Given the description of an element on the screen output the (x, y) to click on. 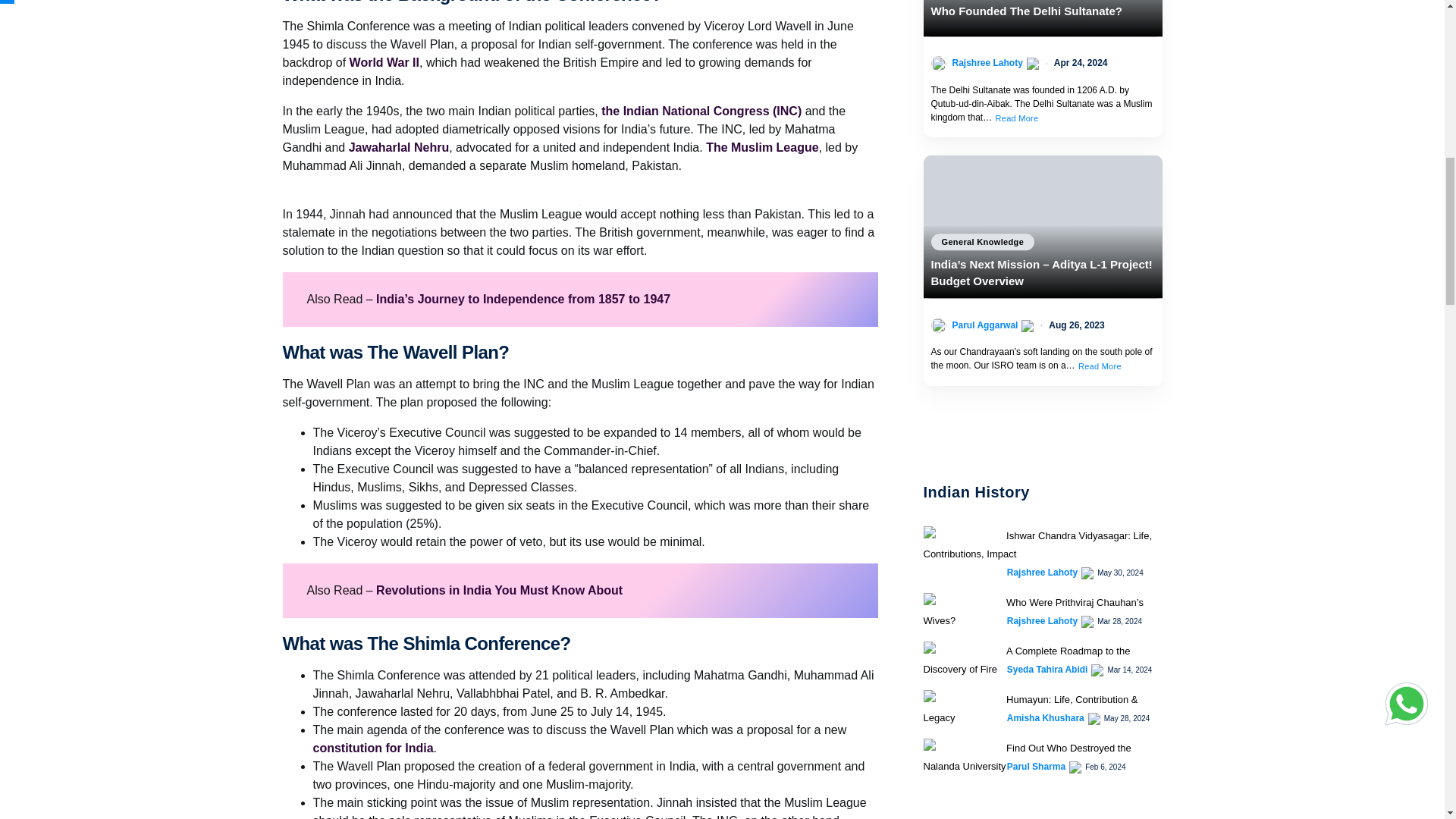
View all posts by Rajshree Lahoty (1042, 572)
View all posts by Rajshree Lahoty (1042, 621)
View all posts by Amisha Khushara (1045, 717)
View all posts by Syeda Tahira Abidi (1047, 669)
View all posts by Rajshree Lahoty (987, 62)
View all posts by Parul Aggarwal (984, 325)
View all posts by Parul Sharma (1036, 766)
